Given the description of an element on the screen output the (x, y) to click on. 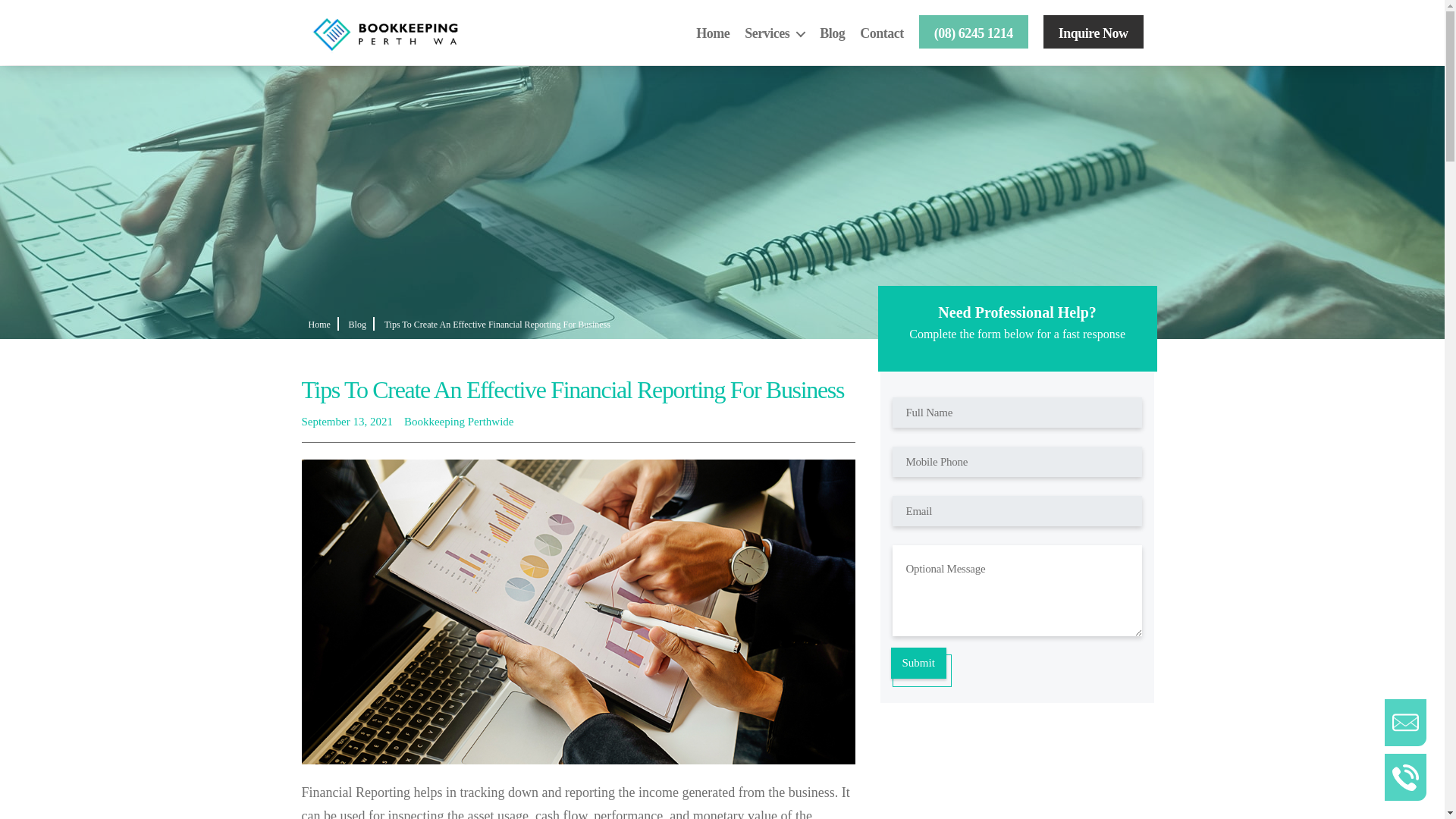
Inquire Now (1092, 31)
Home (712, 32)
Blog (831, 32)
Contact (882, 32)
Services (774, 32)
